Given the description of an element on the screen output the (x, y) to click on. 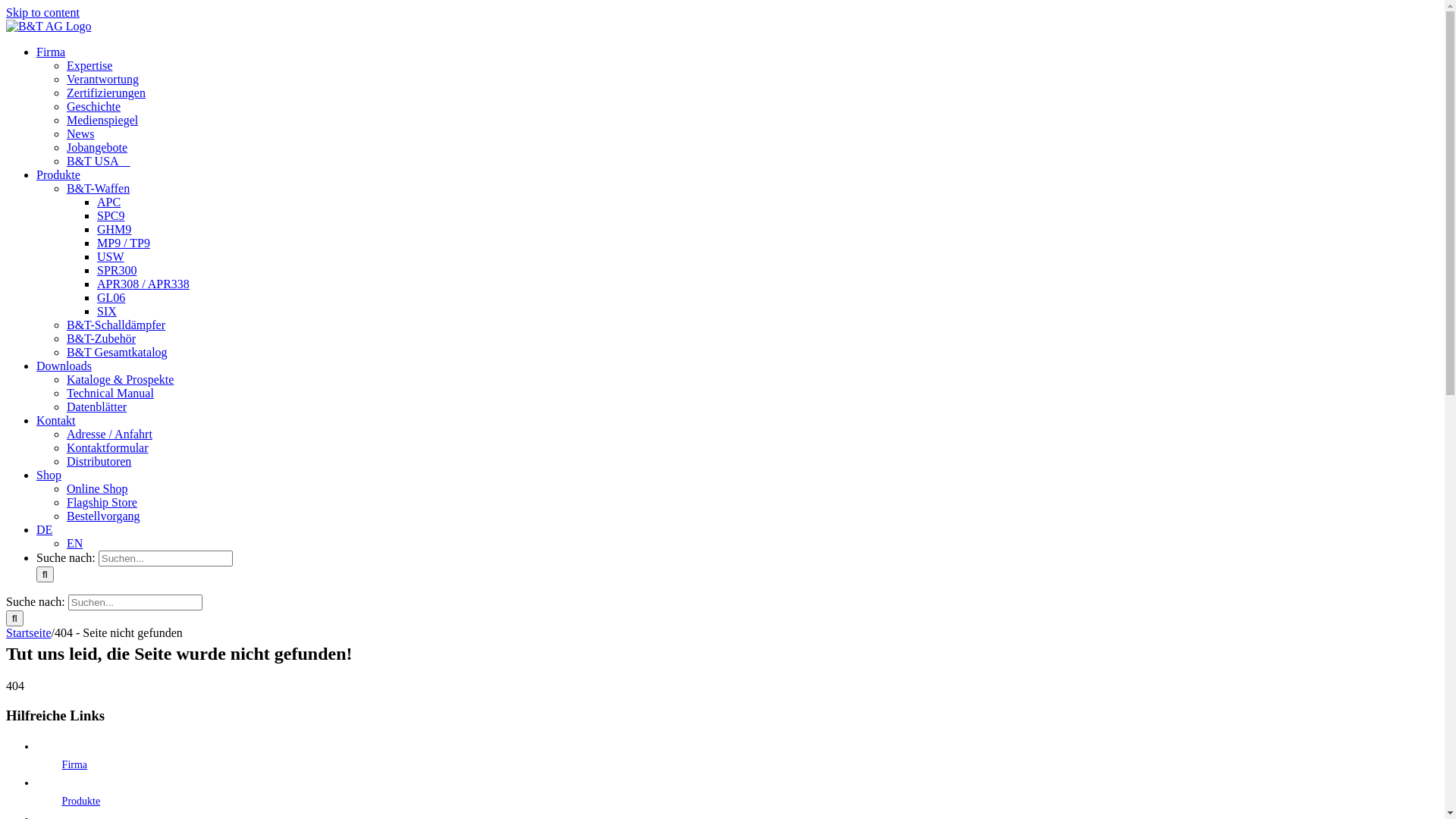
SIX Element type: text (106, 310)
B&T-Waffen Element type: text (97, 188)
SPC9 Element type: text (110, 215)
Kontaktformular Element type: text (107, 447)
Geschichte Element type: text (93, 106)
DE Element type: text (44, 529)
News Element type: text (80, 133)
Technical Manual Element type: text (109, 392)
Skip to content Element type: text (42, 12)
GL06 Element type: text (111, 297)
Produkte Element type: text (58, 174)
APR308 / APR338 Element type: text (143, 283)
Shop Element type: text (48, 474)
GHM9 Element type: text (114, 228)
MP9 / TP9 Element type: text (123, 242)
Kontakt Element type: text (55, 420)
Online Shop Element type: text (96, 488)
Expertise Element type: text (89, 65)
Distributoren Element type: text (98, 461)
Downloads Element type: text (63, 365)
Bestellvorgang Element type: text (103, 515)
Jobangebote Element type: text (96, 147)
Medienspiegel Element type: text (102, 119)
Firma Element type: text (74, 764)
Verantwortung Element type: text (102, 78)
Adresse / Anfahrt Element type: text (109, 433)
Firma Element type: text (50, 51)
Flagship Store Element type: text (101, 501)
Produkte Element type: text (81, 800)
EN Element type: text (74, 542)
SPR300 Element type: text (116, 269)
B&T USA     Element type: text (98, 160)
Kataloge & Prospekte Element type: text (119, 379)
Zertifizierungen Element type: text (105, 92)
B&T Gesamtkatalog Element type: text (116, 351)
Startseite Element type: text (28, 632)
USW Element type: text (110, 256)
APC Element type: text (108, 201)
